Given the description of an element on the screen output the (x, y) to click on. 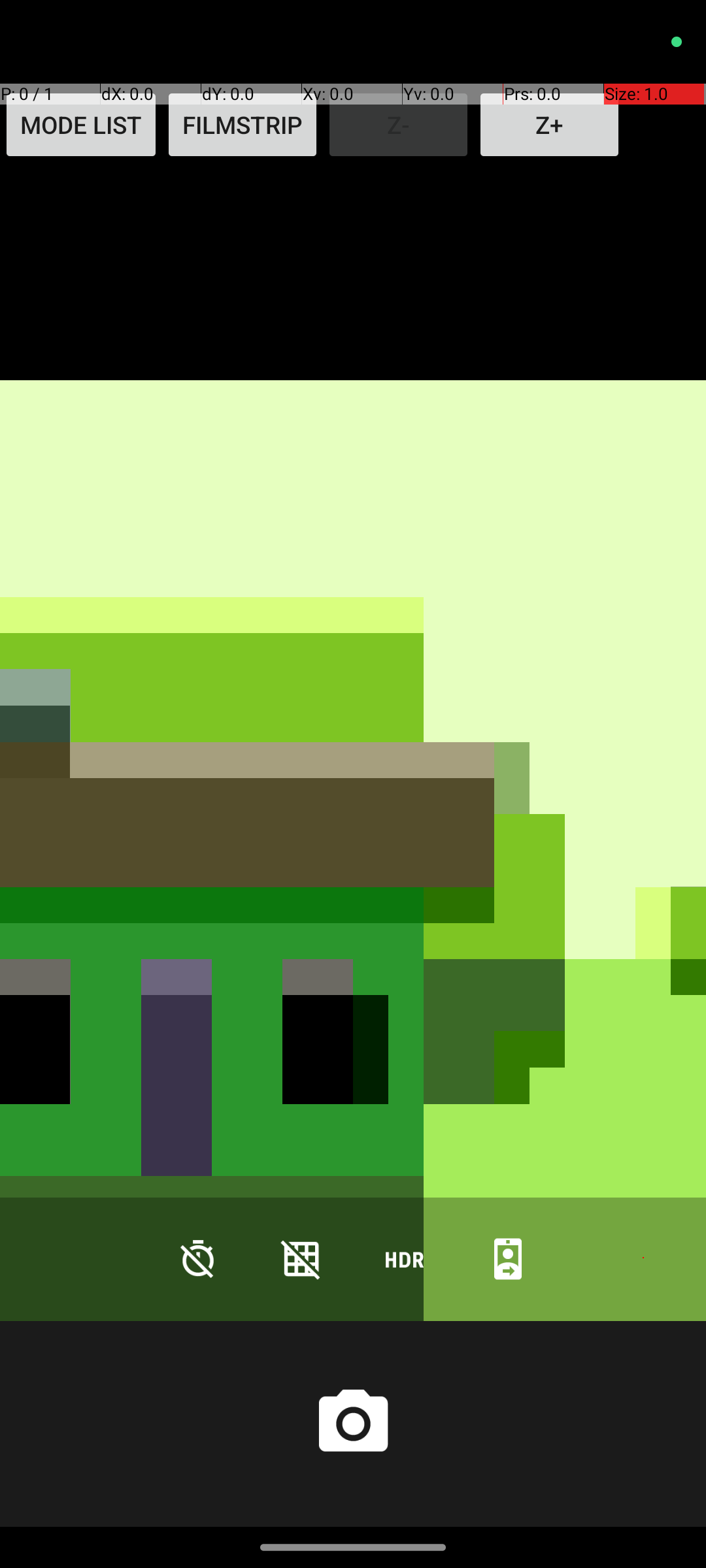
Countdown timer is off Element type: android.widget.ImageButton (197, 1258)
HDR on Element type: android.widget.ImageButton (404, 1258)
Front camera Element type: android.widget.ImageButton (507, 1258)
